Given the description of an element on the screen output the (x, y) to click on. 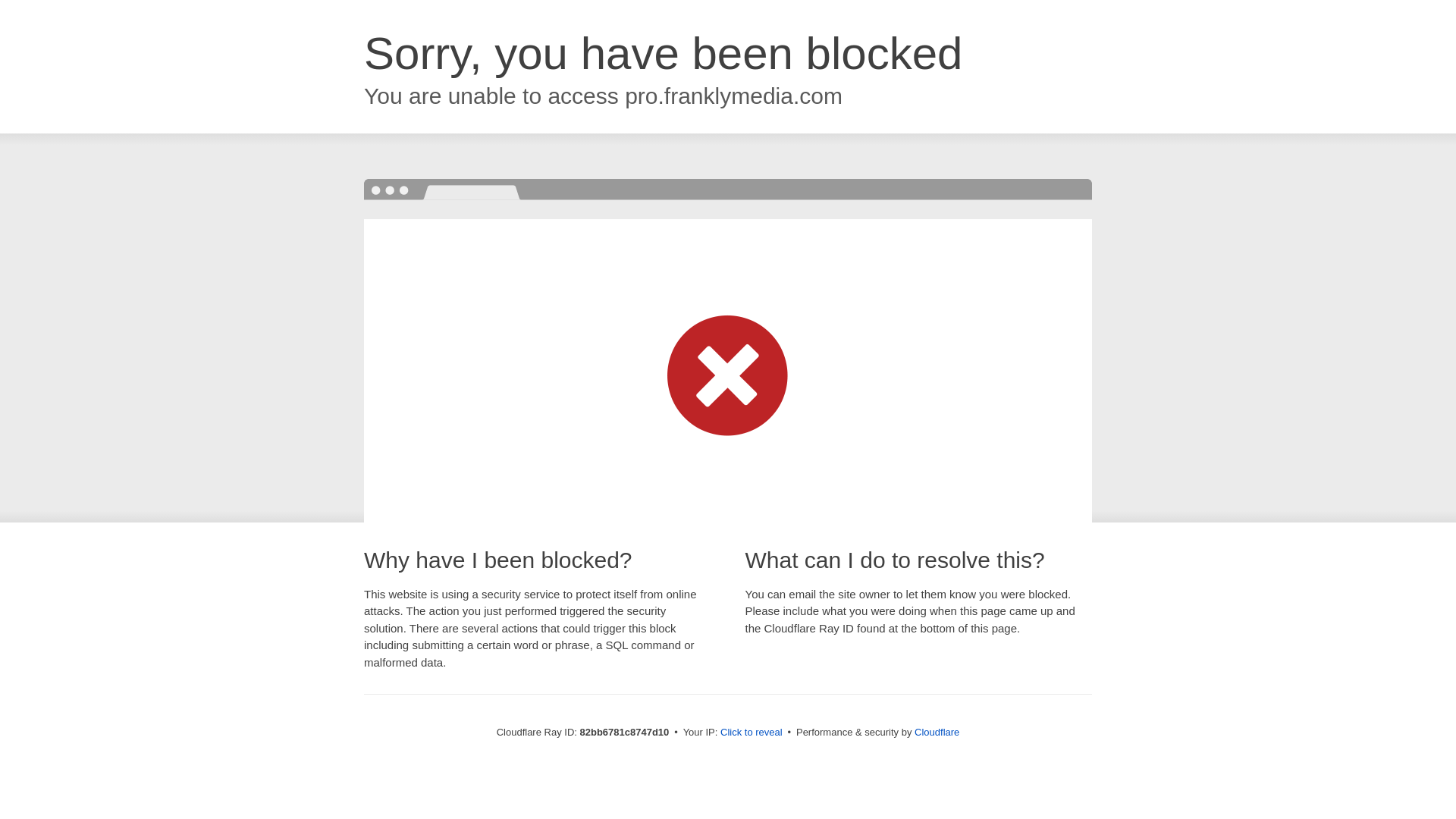
Cloudflare Element type: text (936, 731)
Click to reveal Element type: text (751, 732)
